Given the description of an element on the screen output the (x, y) to click on. 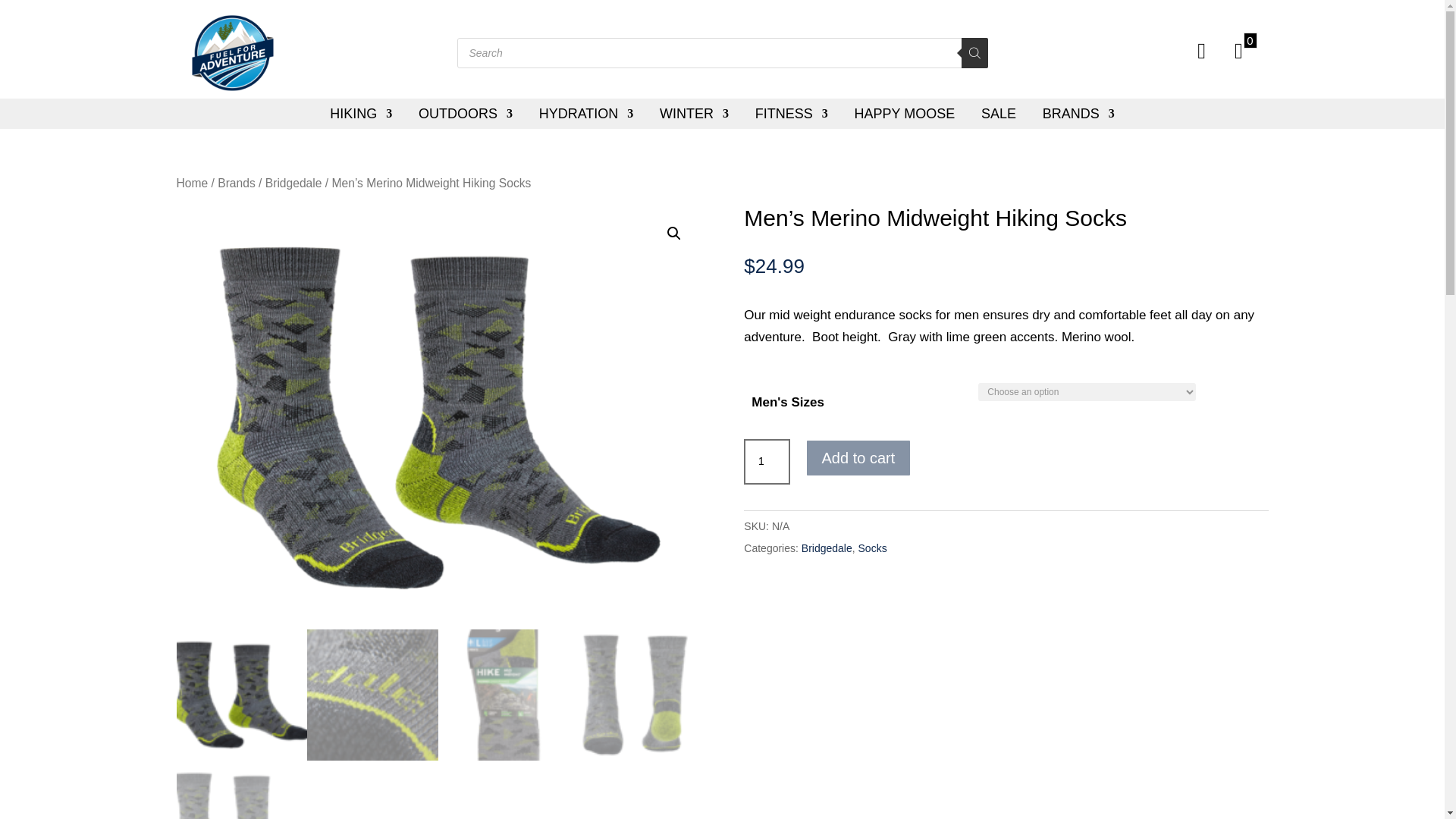
WINTER (694, 113)
HYDRATION (585, 113)
HAPPY MOOSE (904, 113)
BRANDS (1078, 113)
Qty (766, 461)
HIKING (360, 113)
SALE (998, 113)
1 (766, 461)
FITNESS (791, 113)
OUTDOORS (465, 113)
